Given the description of an element on the screen output the (x, y) to click on. 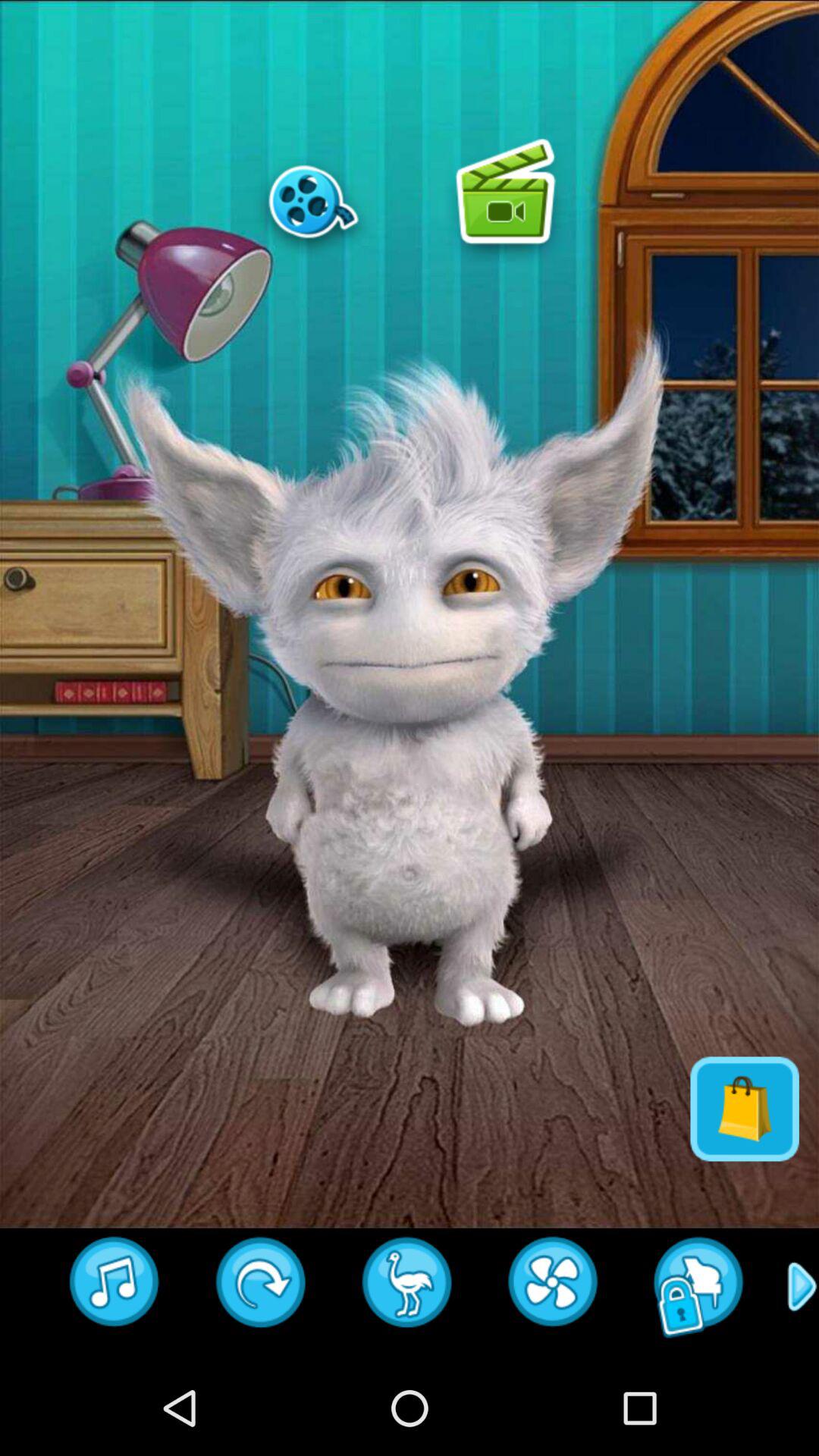
game image (504, 200)
